Given the description of an element on the screen output the (x, y) to click on. 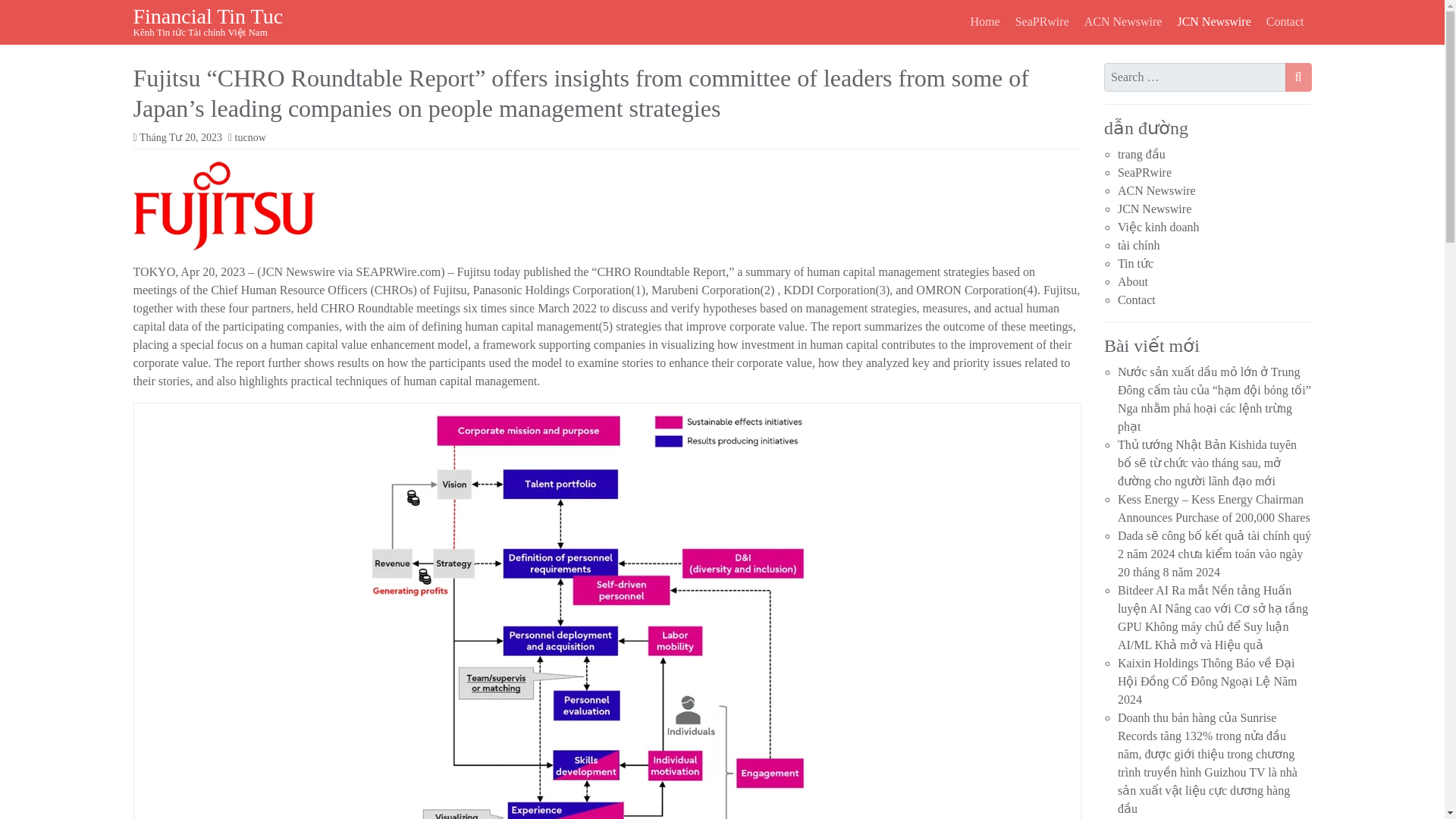
Contact (1285, 22)
JCN Newswire (1154, 208)
Contact (1137, 299)
SeaPRwire (1145, 172)
tucnow (250, 137)
About (1133, 281)
Contact (1285, 22)
Financial Tin Tuc (208, 15)
SeaPRwire (1042, 22)
Home (984, 22)
